Given the description of an element on the screen output the (x, y) to click on. 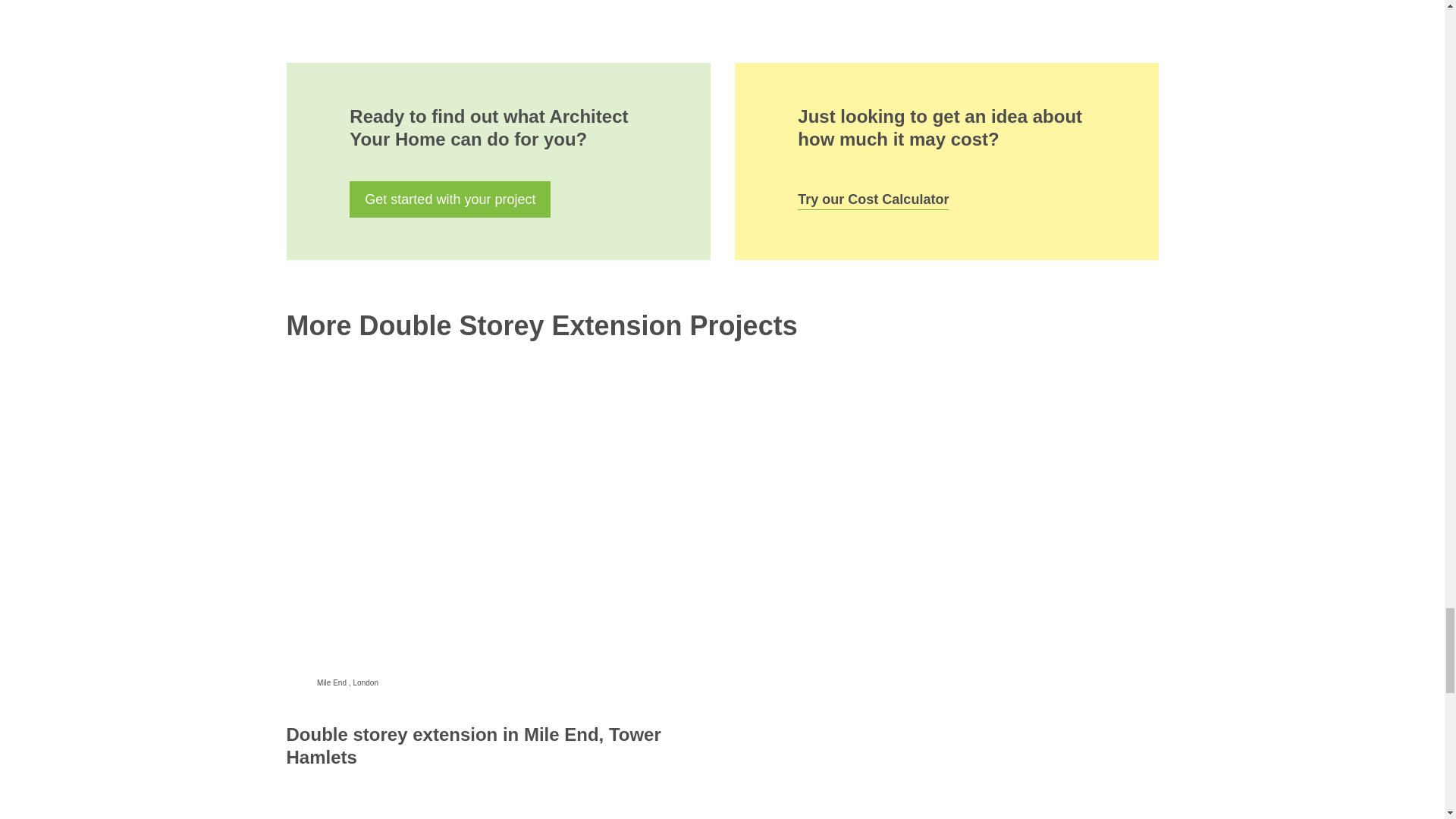
Try our Cost Calculator (873, 194)
Get started with your project (449, 198)
Double storey extension in Mile End, Tower Hamlets (473, 745)
